Given the description of an element on the screen output the (x, y) to click on. 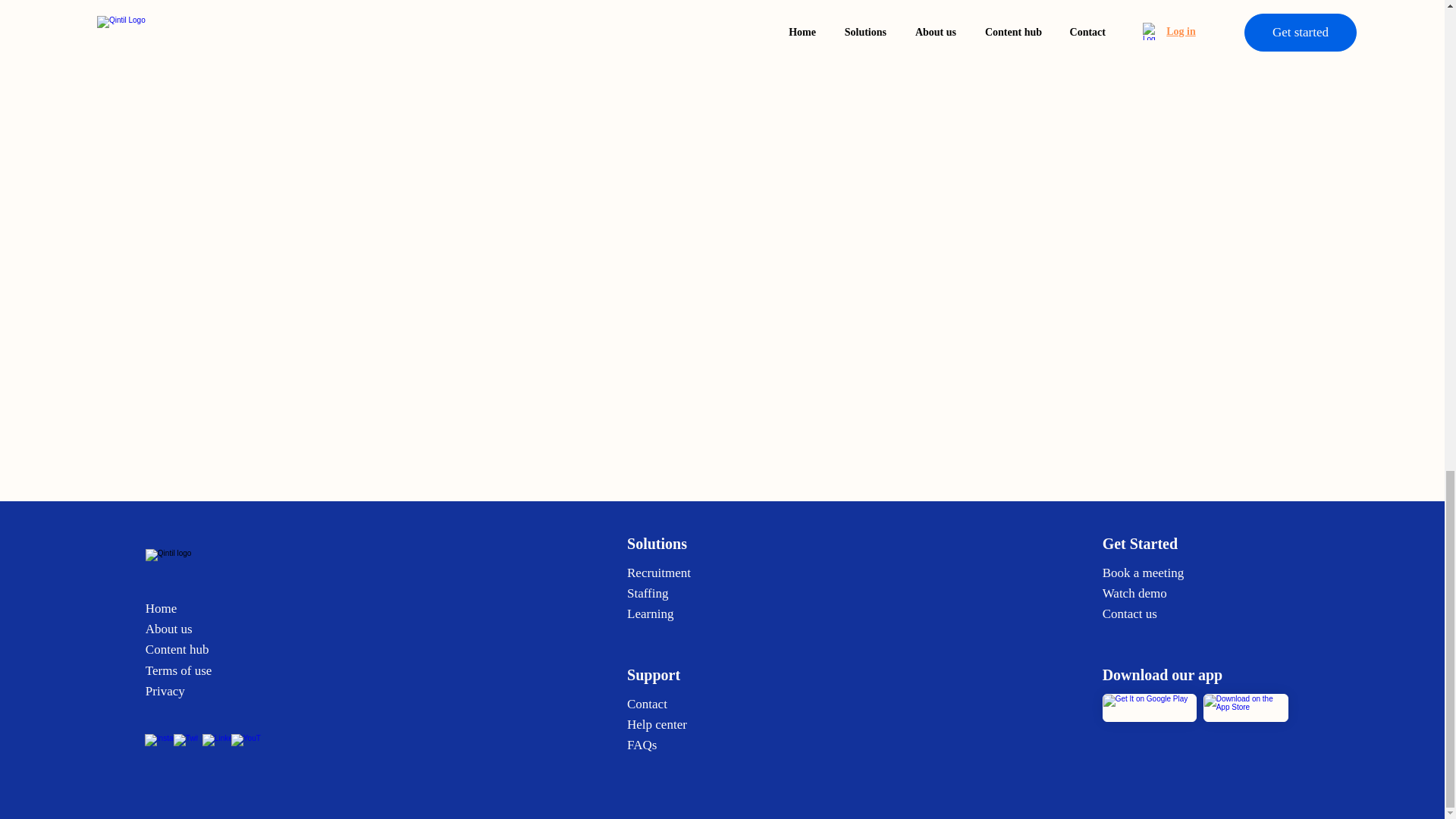
Content hub (177, 649)
Staffing (647, 593)
Contact us (1129, 613)
Home (161, 608)
Watch demo (1134, 593)
Book a meeting (1143, 572)
FAQs (641, 744)
Privacy (164, 690)
Recruitment  (660, 572)
Terms of use (178, 670)
